Given the description of an element on the screen output the (x, y) to click on. 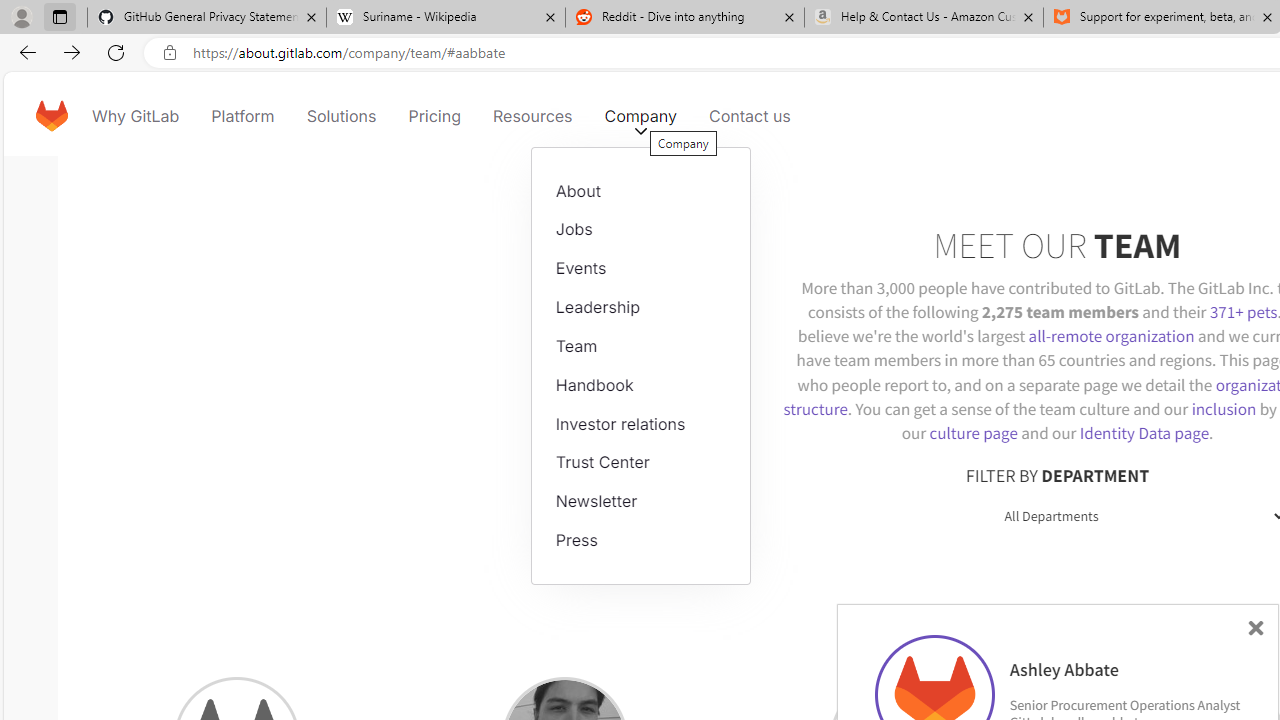
Suriname - Wikipedia (445, 17)
Platform (242, 115)
Identity Data page (1144, 432)
Contact us (749, 115)
Why GitLab (136, 115)
Why GitLab (136, 115)
Platform (242, 115)
Solutions (341, 115)
all-remote organization (1111, 335)
inclusion (1223, 408)
Resources (532, 115)
Pricing (433, 115)
